Given the description of an element on the screen output the (x, y) to click on. 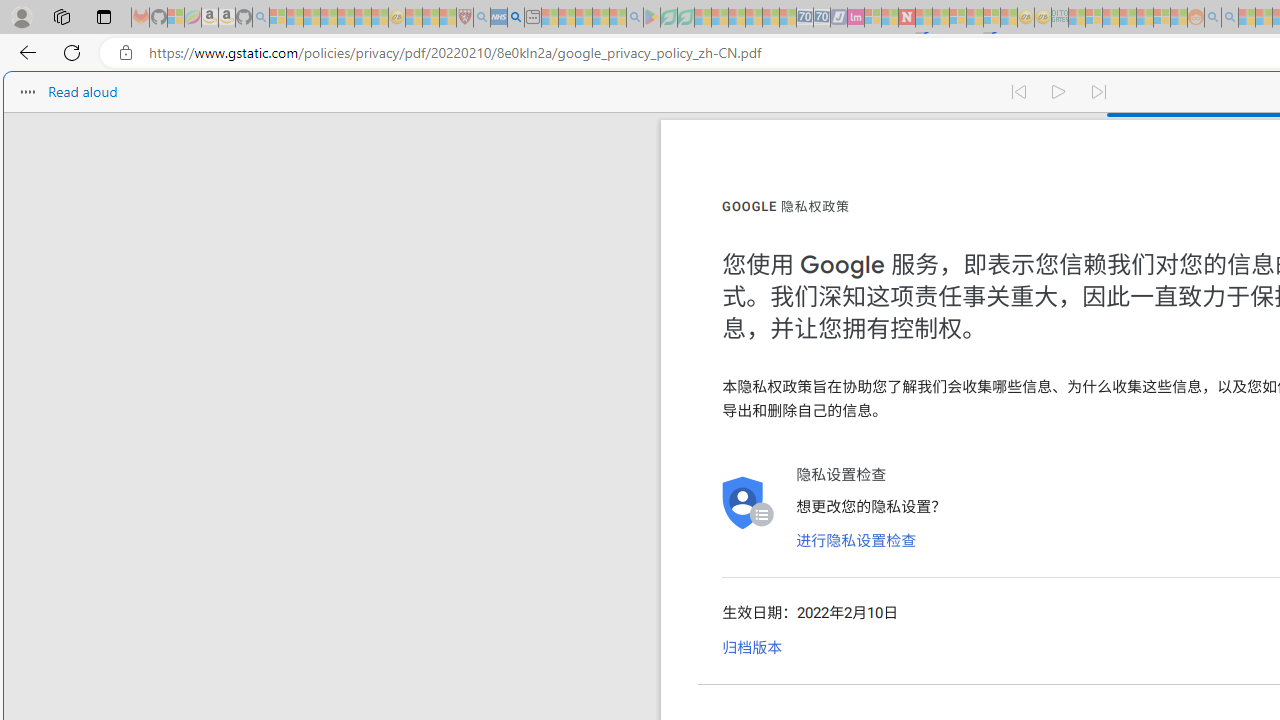
Kinda Frugal - MSN - Sleeping (1144, 17)
Pets - MSN - Sleeping (600, 17)
